Given the description of an element on the screen output the (x, y) to click on. 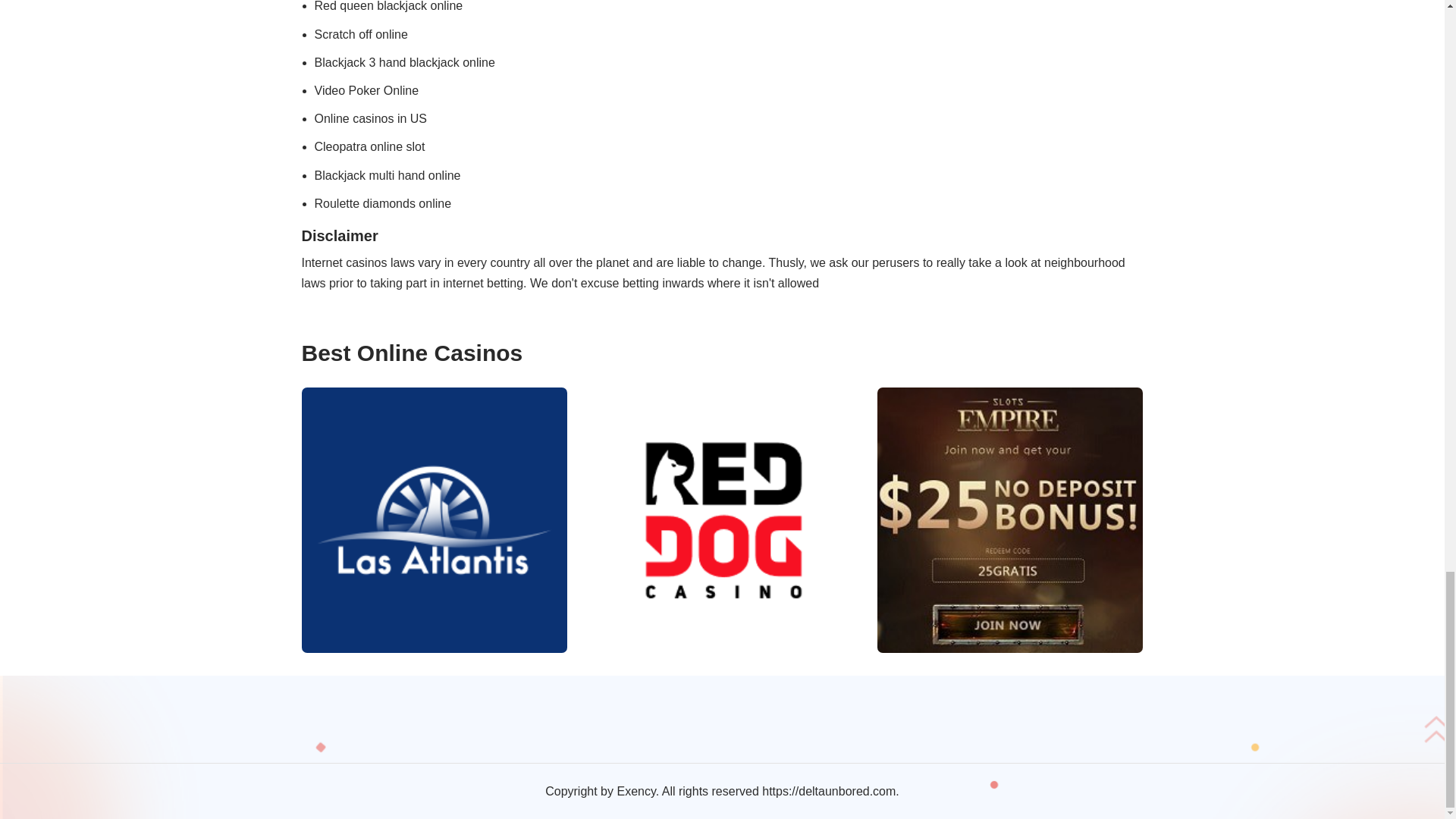
Roulette diamonds online (382, 203)
Blackjack multi hand online (387, 174)
Video Poker Online (366, 90)
Cleopatra online slot (369, 146)
Blackjack 3 hand blackjack online (404, 62)
Red queen blackjack online (388, 6)
Scratch off online (360, 33)
Online casinos in US (370, 118)
